Given the description of an element on the screen output the (x, y) to click on. 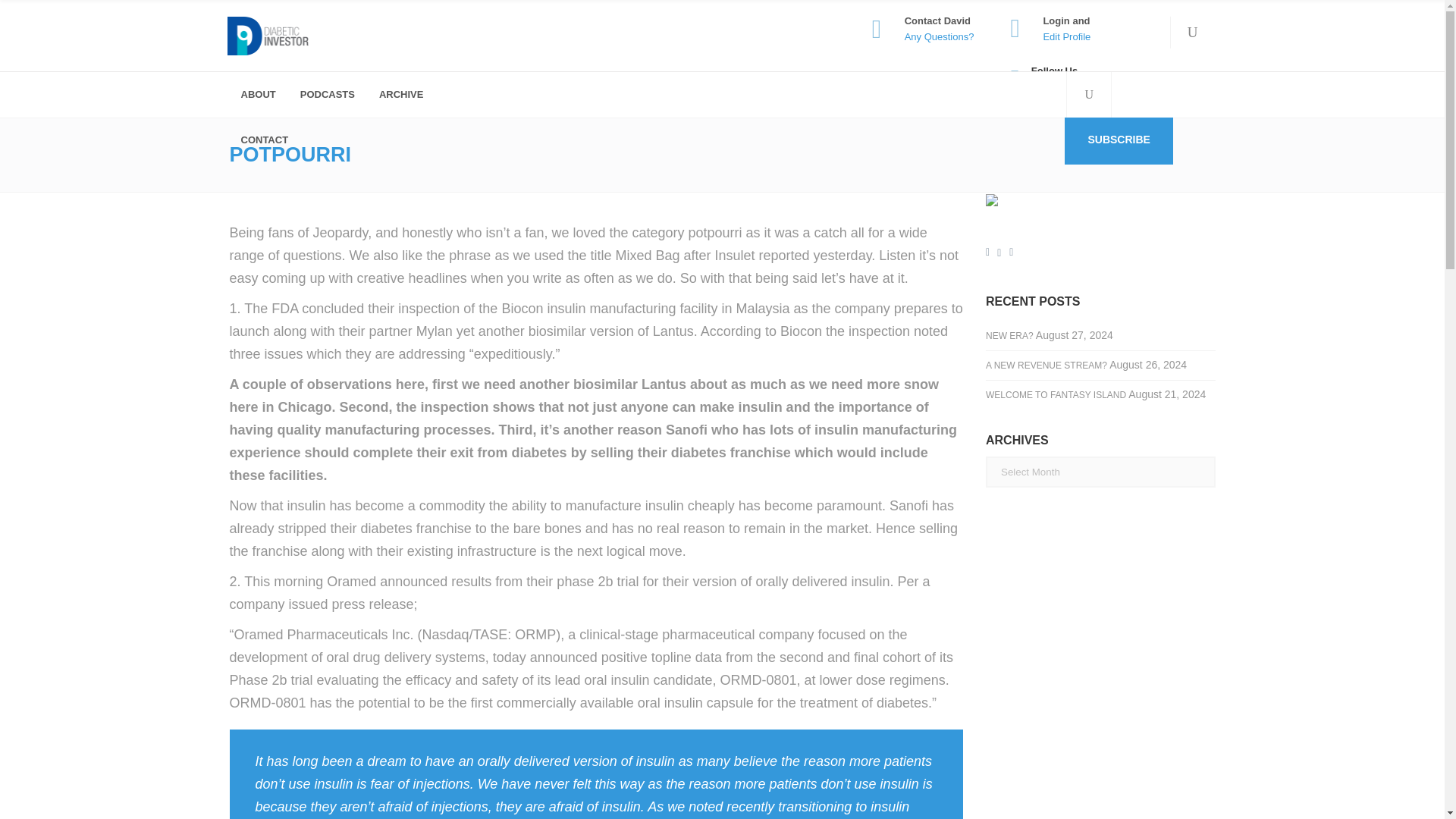
ARCHIVE (399, 94)
Contact David (937, 20)
PODCASTS (325, 94)
Login and (1065, 20)
Search (1061, 142)
CONTACT (263, 139)
Search (1165, 90)
Edit Profile (1066, 36)
Any Questions? (939, 36)
ABOUT (256, 94)
